Given the description of an element on the screen output the (x, y) to click on. 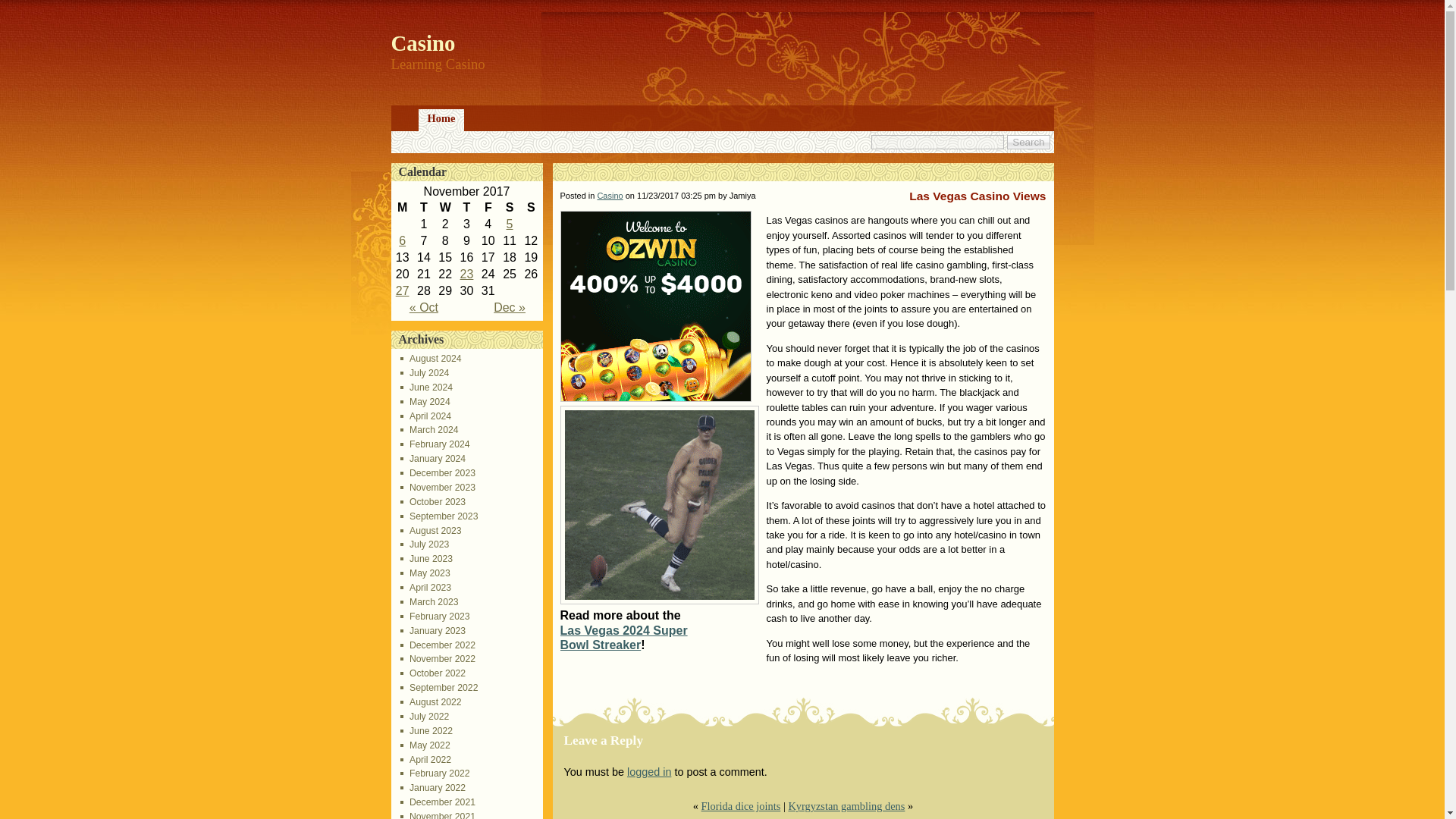
23 (467, 273)
February 2024 (435, 443)
January 2023 (432, 630)
May 2023 (424, 573)
August 2023 (430, 530)
March 2024 (429, 429)
June 2022 (426, 730)
Search (1028, 142)
Sunday (530, 207)
